Given the description of an element on the screen output the (x, y) to click on. 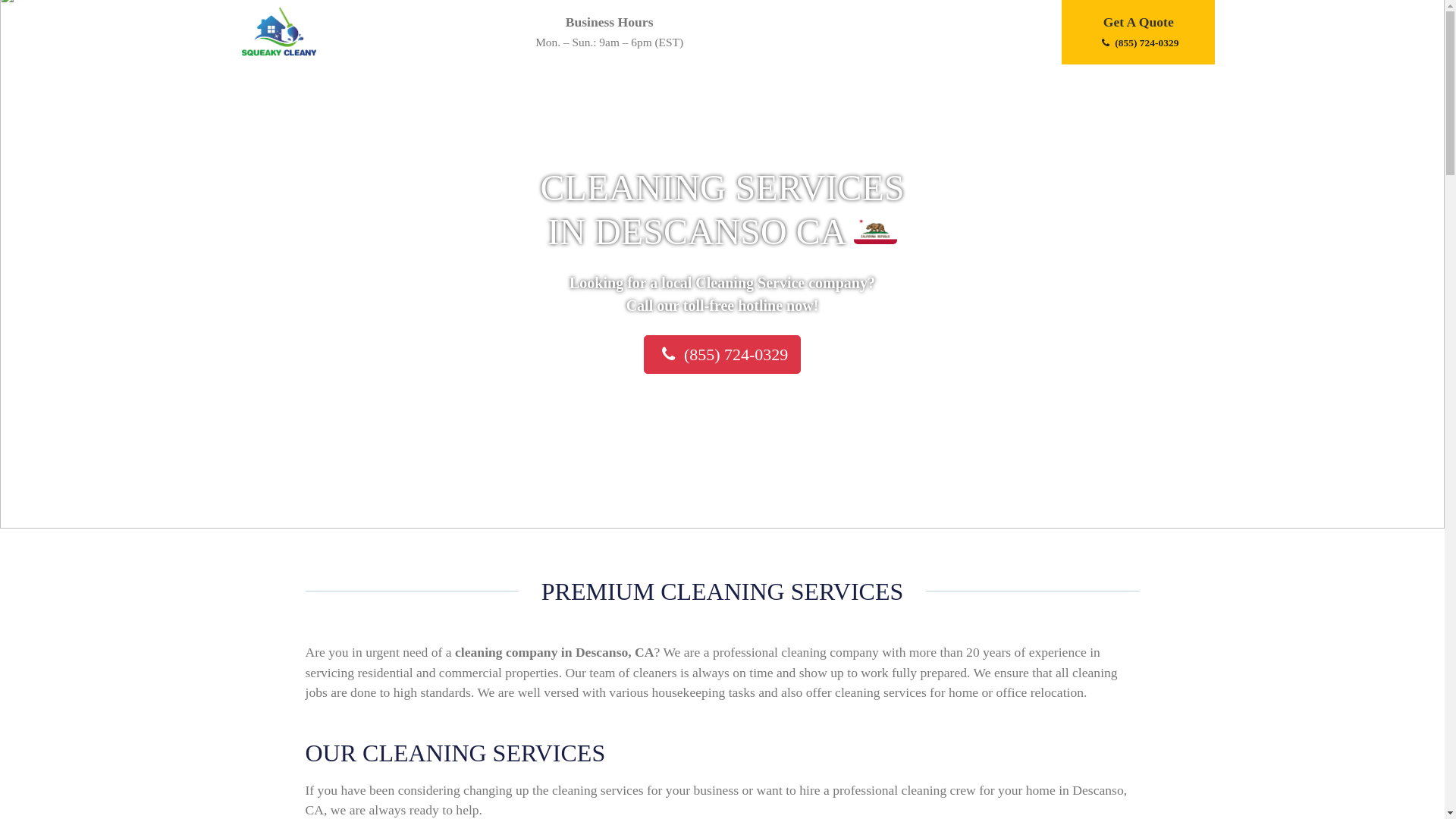
Squeaky Cleany (284, 31)
Cleaning in Descanso CA (875, 231)
Squeaky Cleany (284, 29)
